Given the description of an element on the screen output the (x, y) to click on. 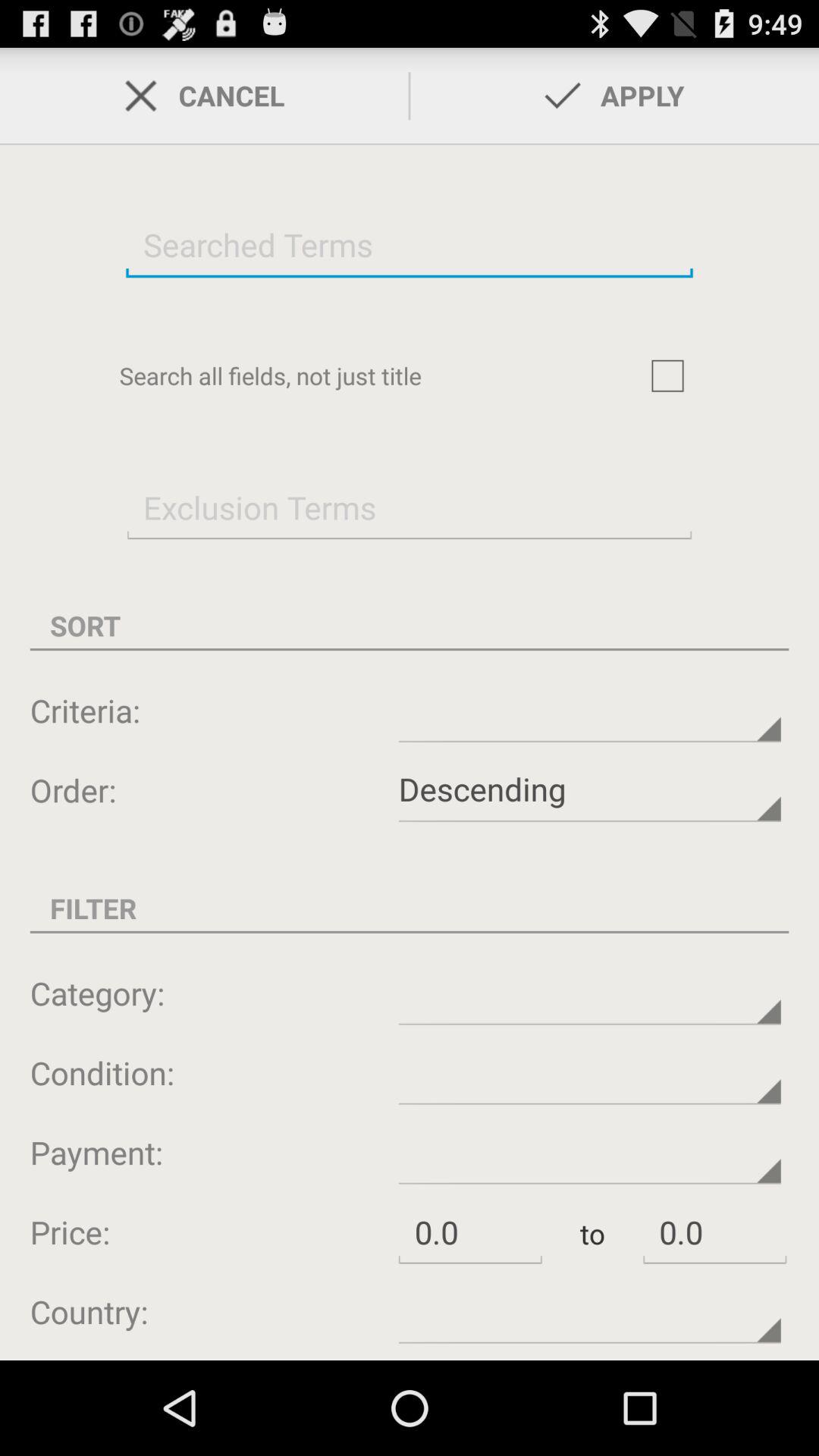
search (409, 244)
